Given the description of an element on the screen output the (x, y) to click on. 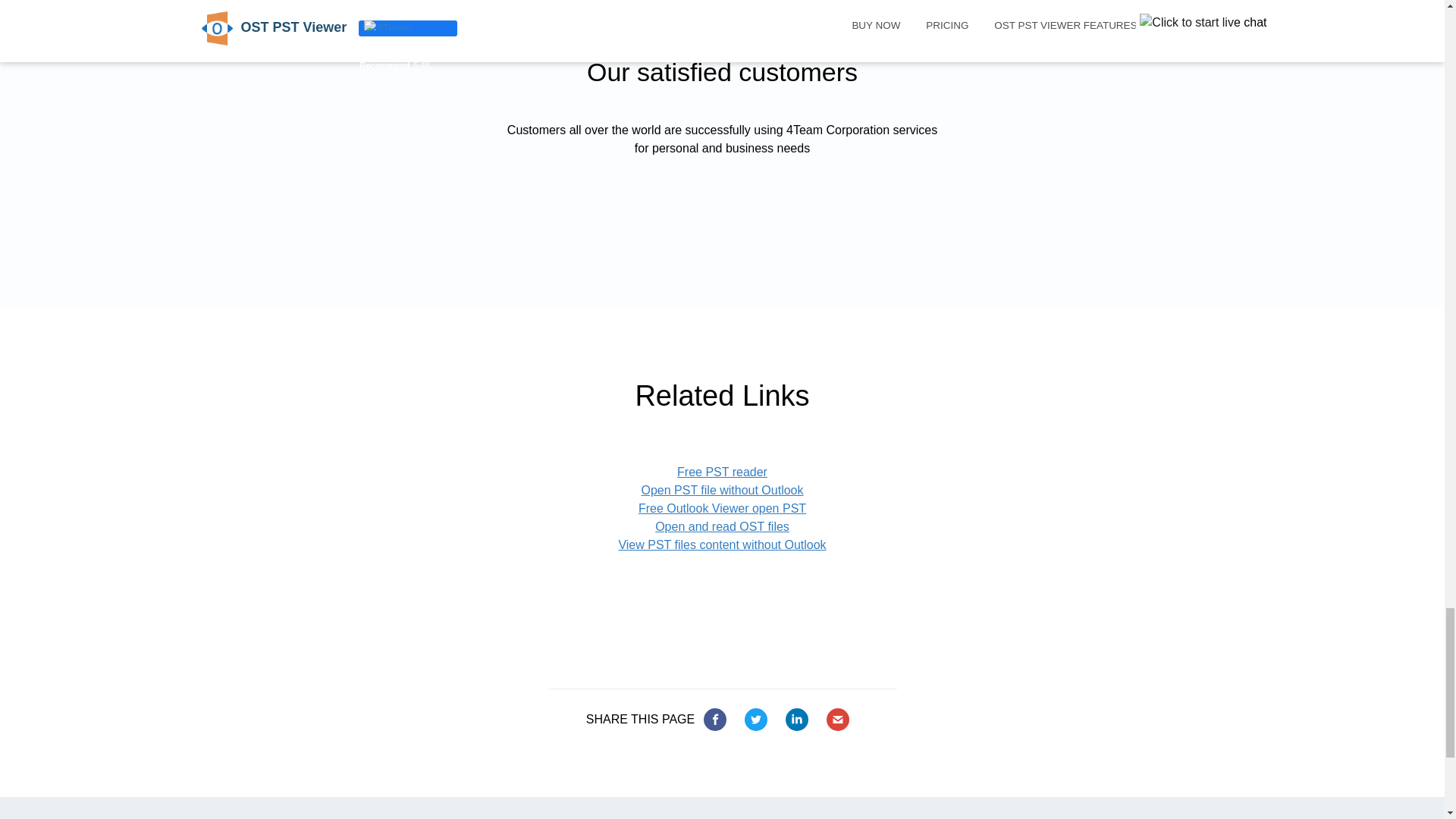
View PST files content without Outlook (721, 544)
Open and read OST files (722, 526)
Open PST file without Outlook (721, 490)
Free Outlook Viewer open PST (722, 508)
Free PST reader (722, 472)
